Given the description of an element on the screen output the (x, y) to click on. 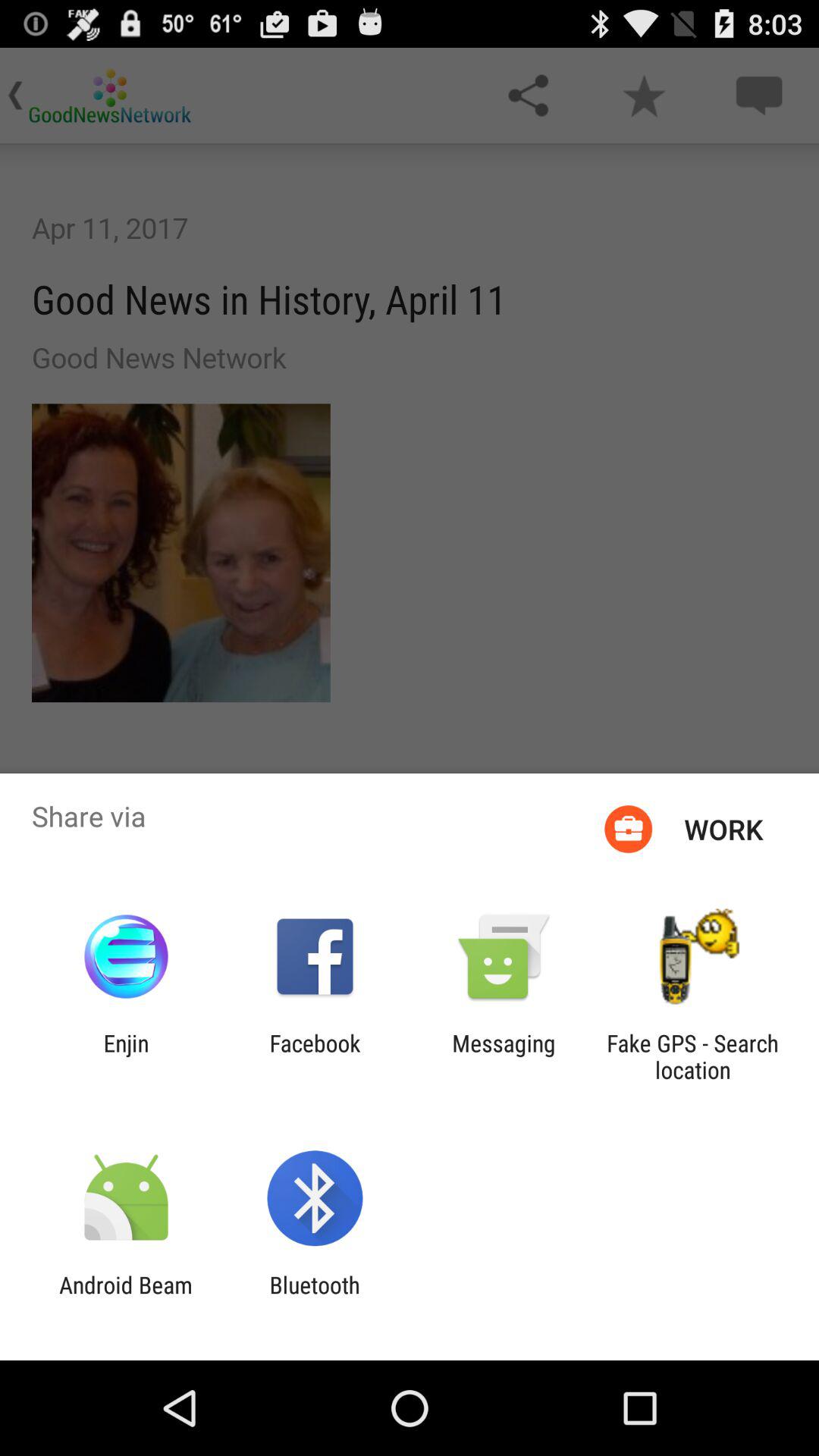
press item to the left of facebook item (126, 1056)
